Given the description of an element on the screen output the (x, y) to click on. 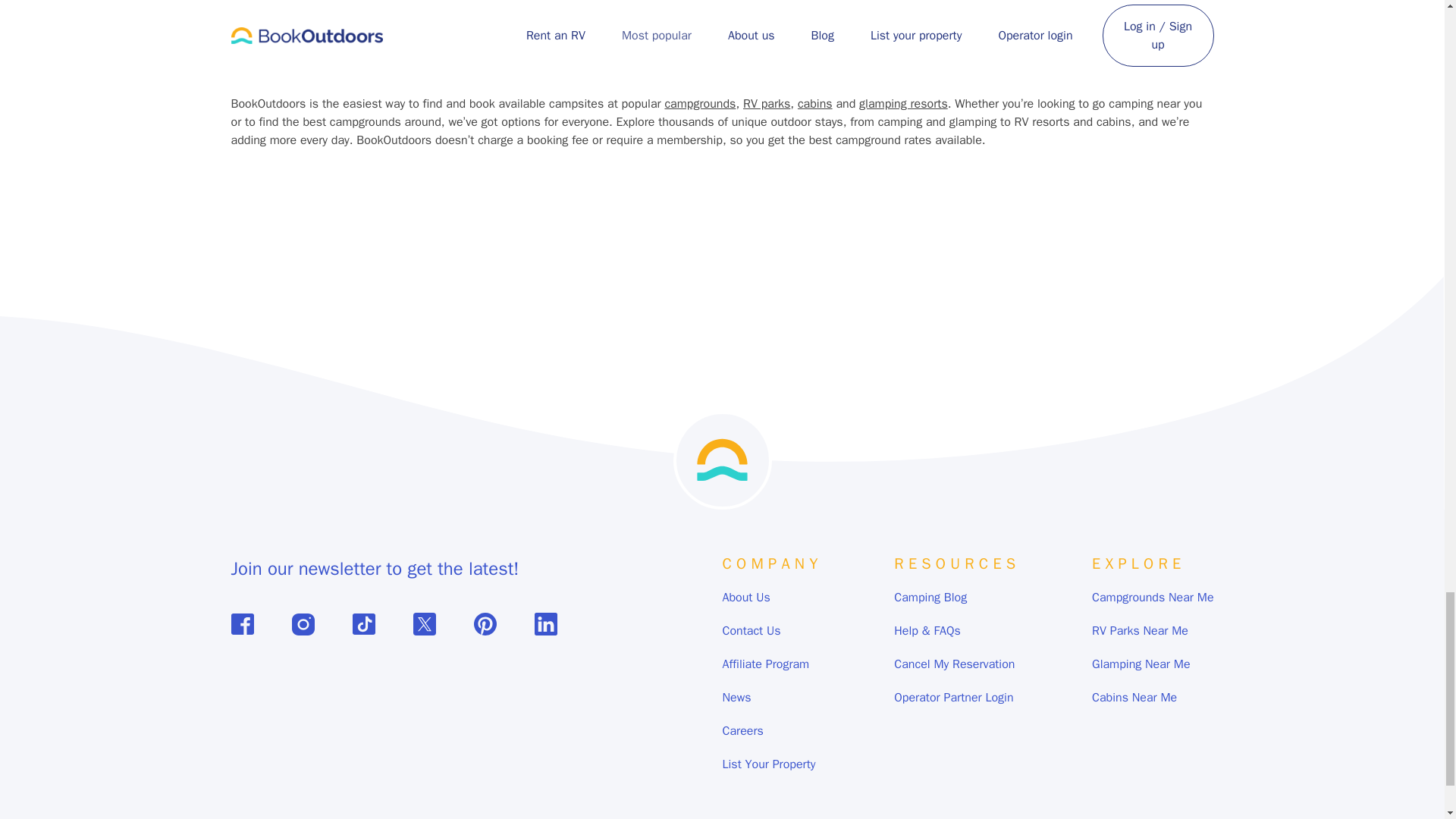
cabins (814, 103)
Best cabins near me (846, 17)
Best tent camping near me (596, 17)
Best RV parks near me (346, 17)
Best glamping resorts near me (1096, 17)
campgrounds (699, 103)
RV parks (766, 103)
